Given the description of an element on the screen output the (x, y) to click on. 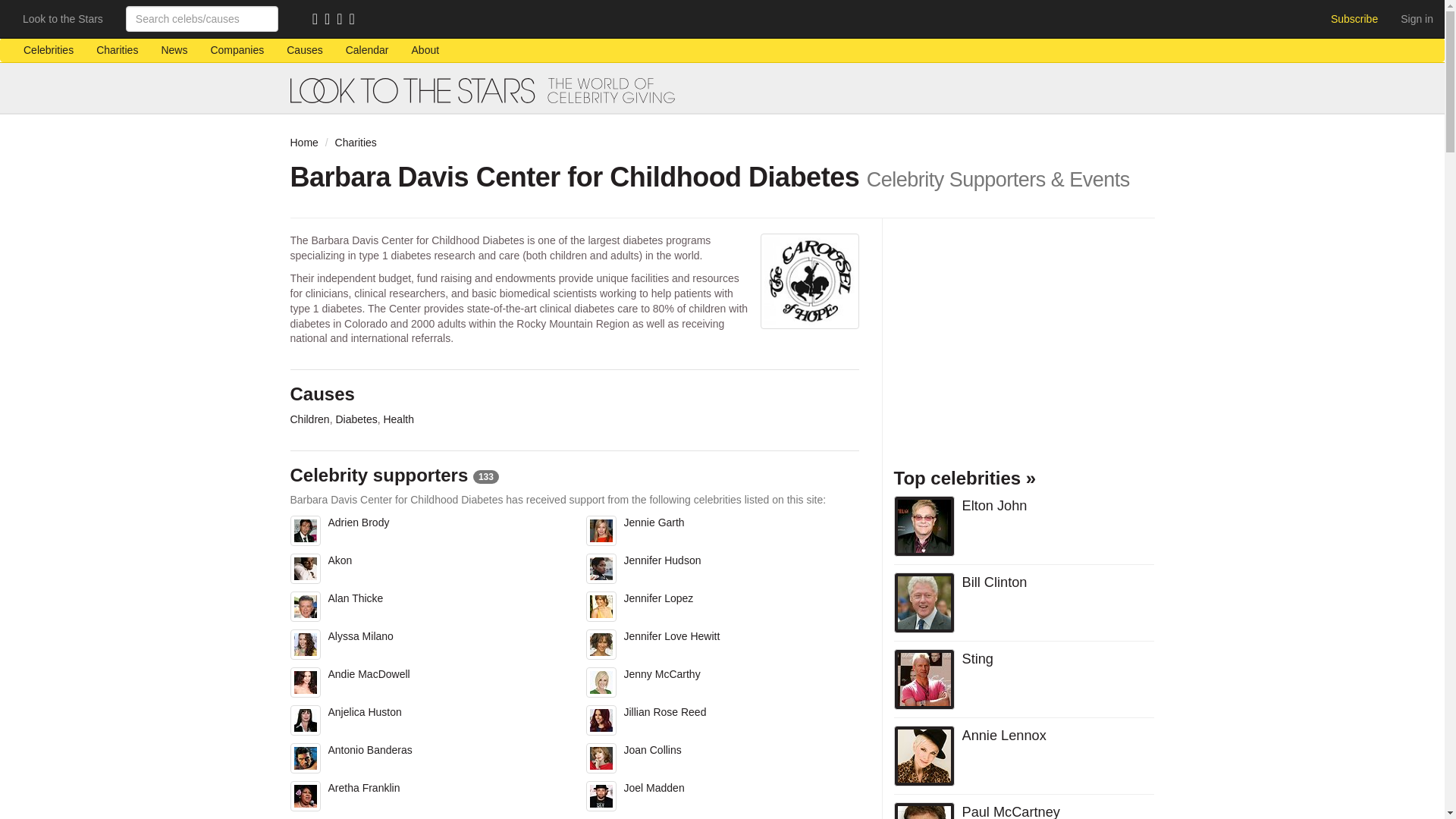
Aretha Franklin (425, 800)
Follow us on Twitter (342, 20)
Mailing list (330, 20)
Anjelica Huston (425, 723)
Look to the Stars (63, 18)
Alan Thicke (425, 610)
4645 celebrities supporting charities (47, 49)
Health (397, 419)
Get our news by email (330, 20)
Calendar of celebrity charity events (367, 49)
